Given the description of an element on the screen output the (x, y) to click on. 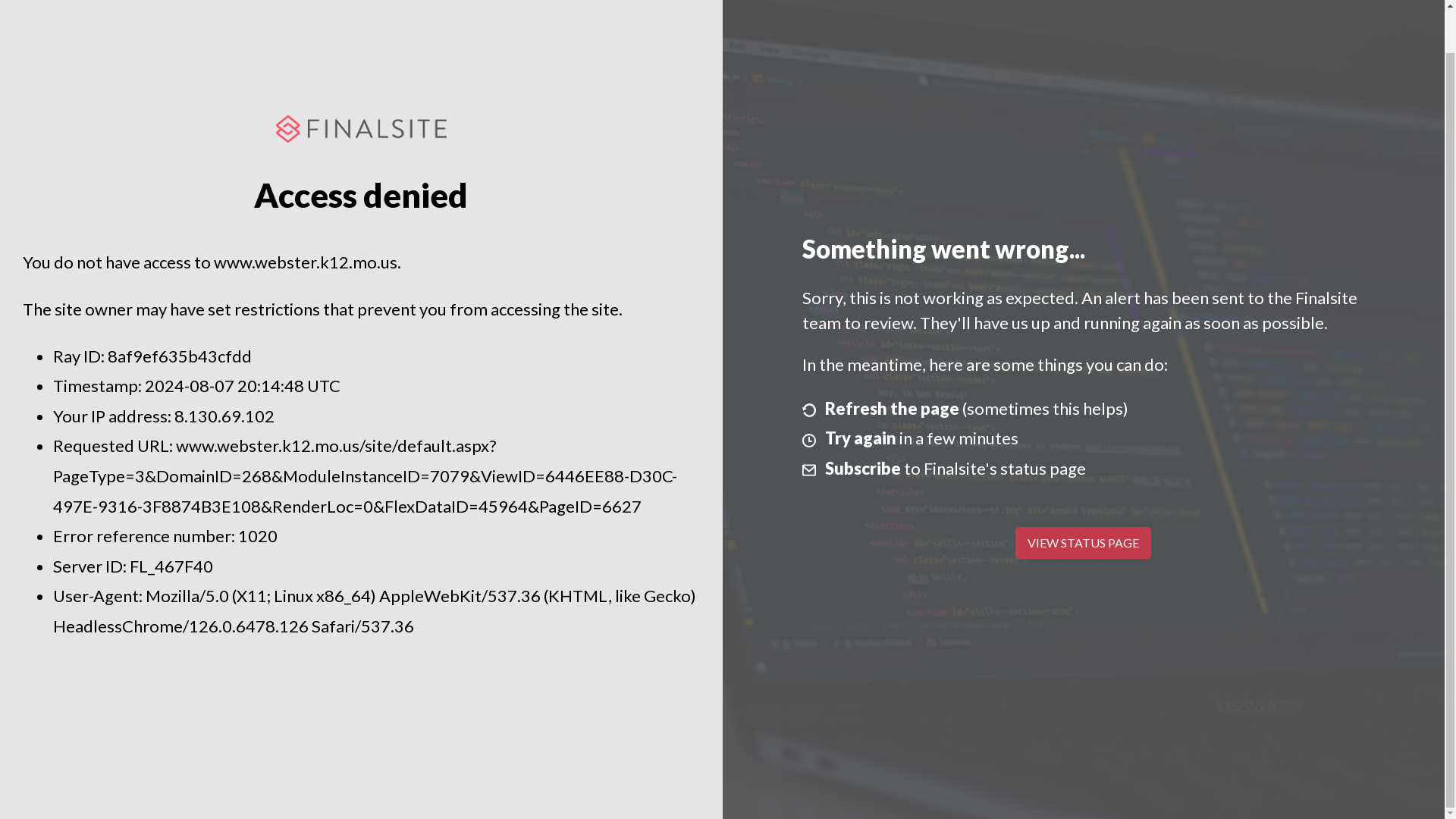
VIEW STATUS PAGE (1082, 542)
